Given the description of an element on the screen output the (x, y) to click on. 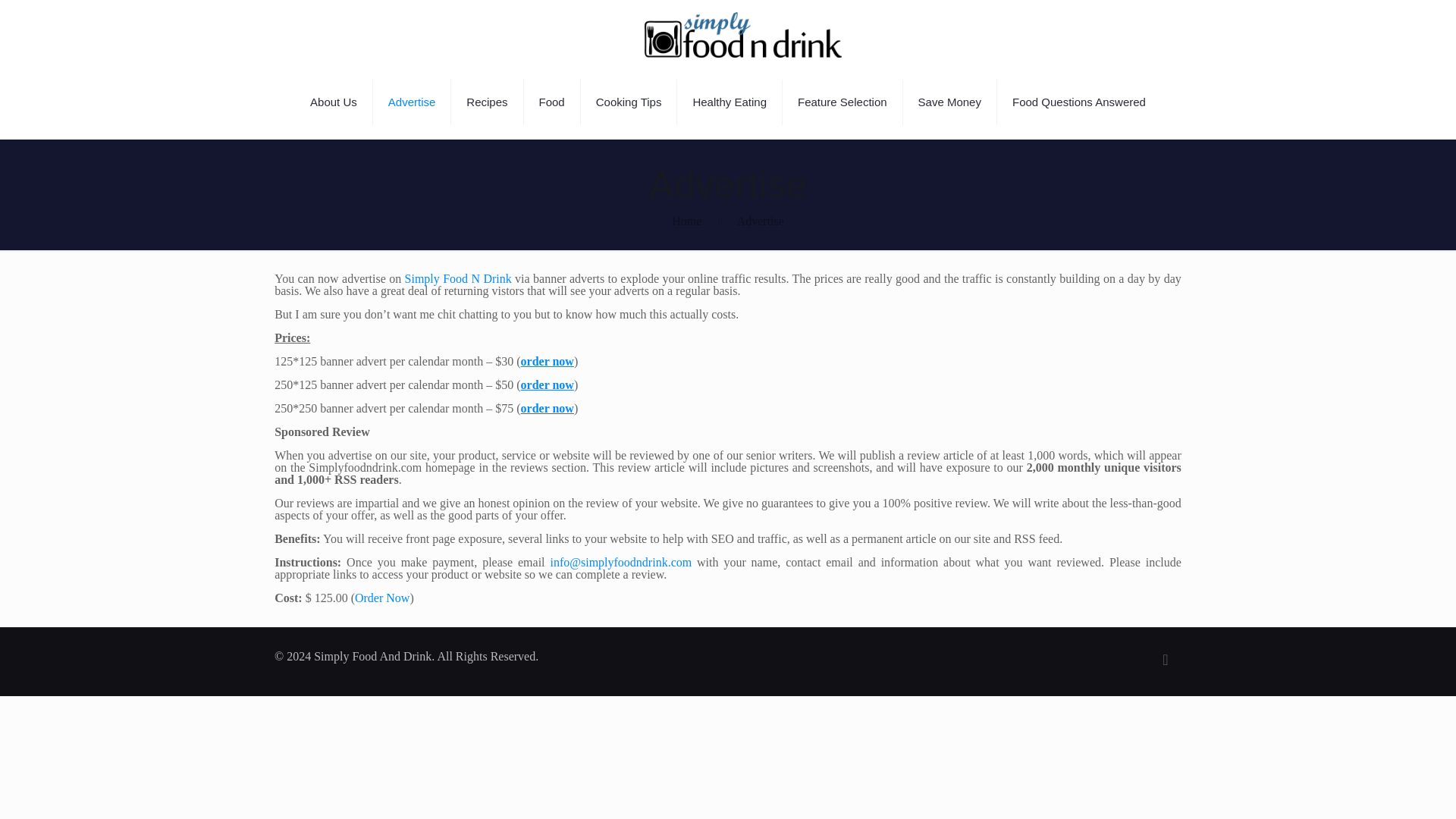
order now (547, 384)
About Us (333, 101)
Healthy Eating (730, 101)
Recipes (486, 101)
Home (686, 220)
Food Questions Answered (1078, 101)
Food (552, 101)
Cooking Tips (629, 101)
Simply Food and Drink Blog (742, 33)
order now (547, 408)
Order Now (382, 597)
Save Money (949, 101)
Feature Selection (842, 101)
Simply Food N Drink (458, 278)
order now (547, 360)
